Given the description of an element on the screen output the (x, y) to click on. 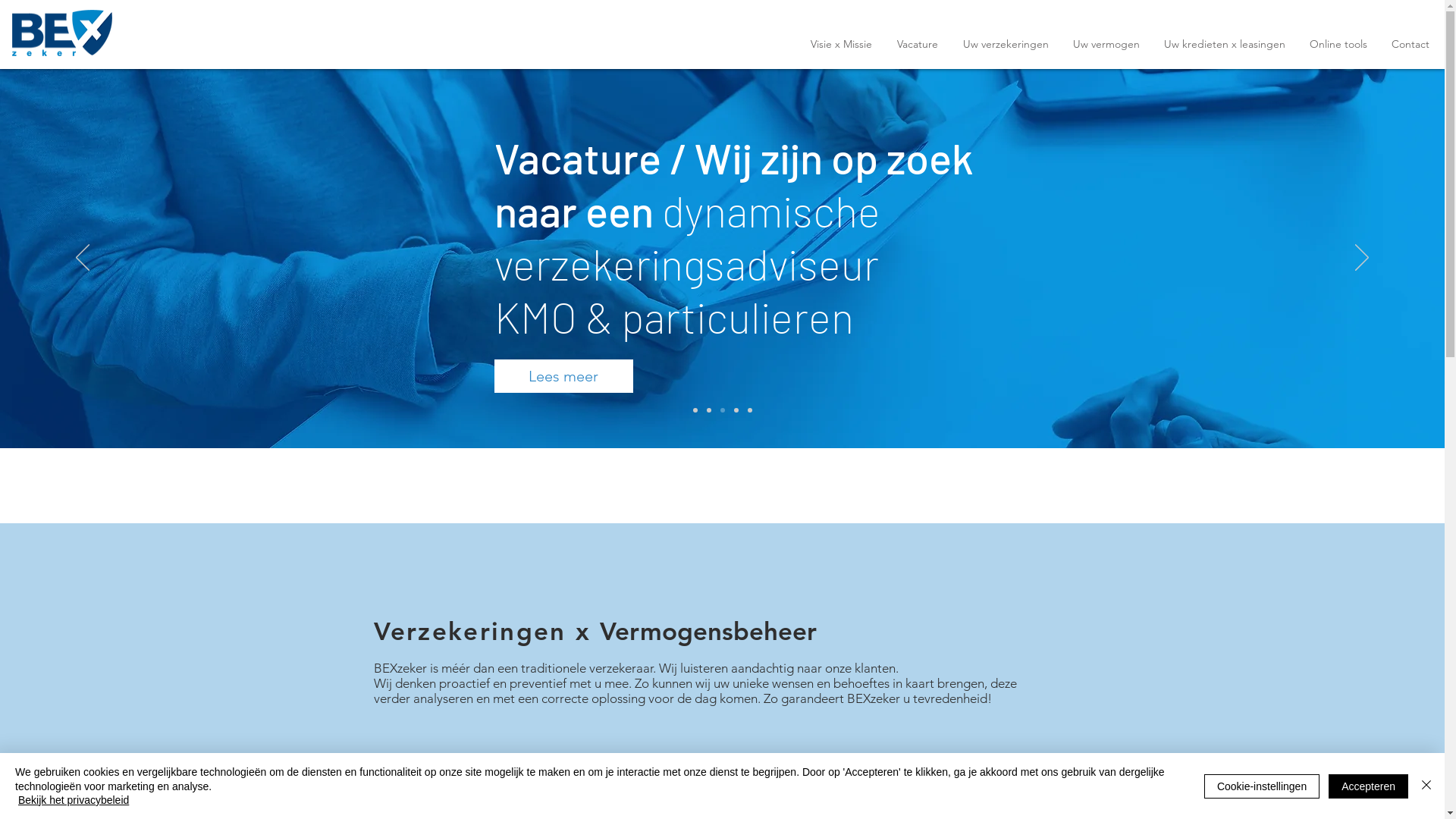
Bekijk het privacybeleid Element type: text (73, 799)
stormtips Element type: text (458, 317)
Uw vermogen Element type: text (1105, 44)
Uw verzekeringen Element type: text (478, 792)
Online tools Element type: text (1338, 44)
Uw vermogen Element type: text (689, 792)
Uw kredieten x leasingen Element type: text (939, 792)
Uw verzekeringen Element type: text (1005, 44)
Visie x Missie Element type: text (840, 44)
Uw kredieten x leasingen Element type: text (1224, 44)
Cookie-instellingen Element type: text (1261, 786)
Accepteren Element type: text (1368, 786)
Contact Element type: text (1410, 44)
Vacature Element type: text (917, 44)
